Given the description of an element on the screen output the (x, y) to click on. 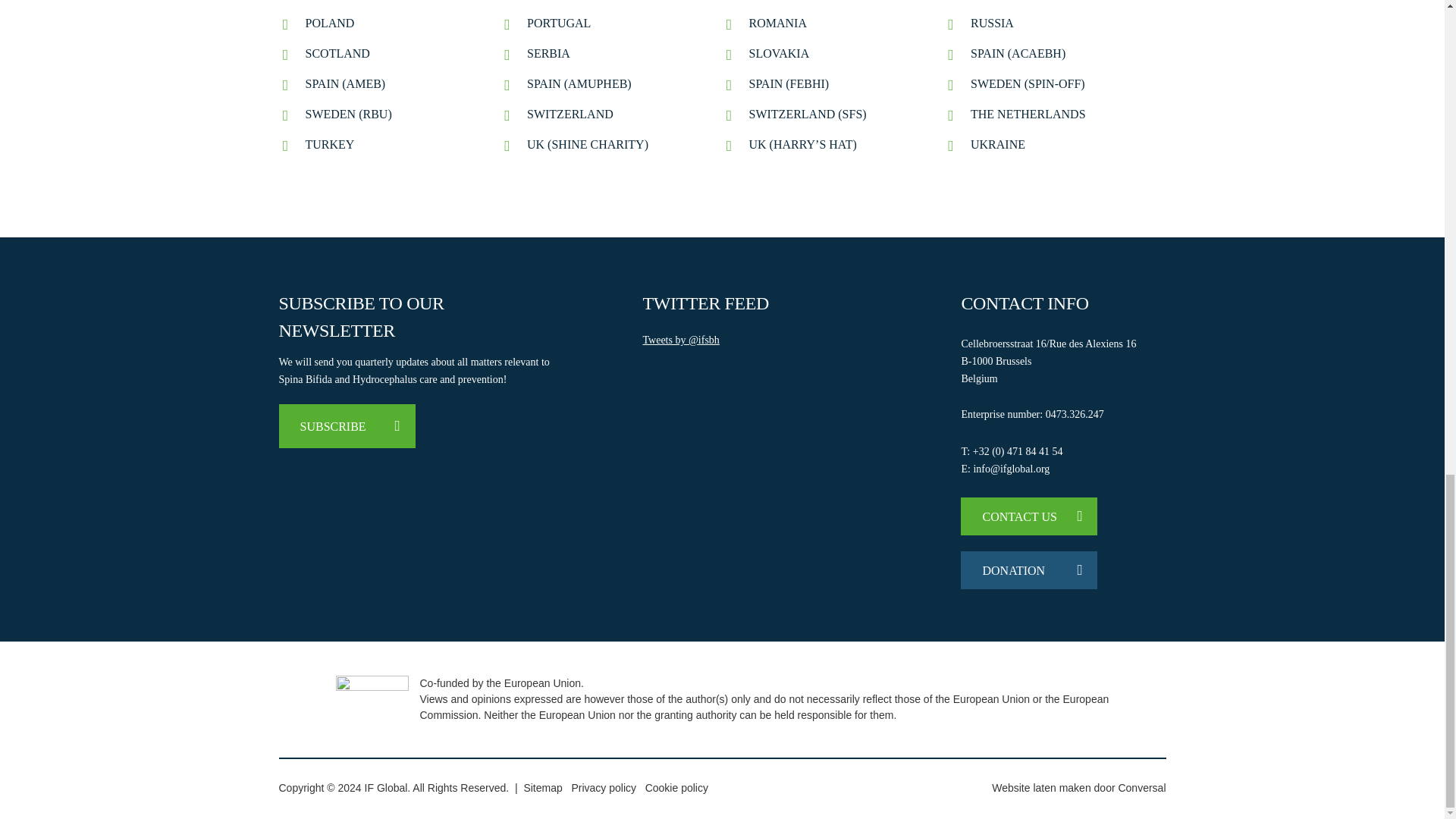
Website laten maken (1040, 787)
